Given the description of an element on the screen output the (x, y) to click on. 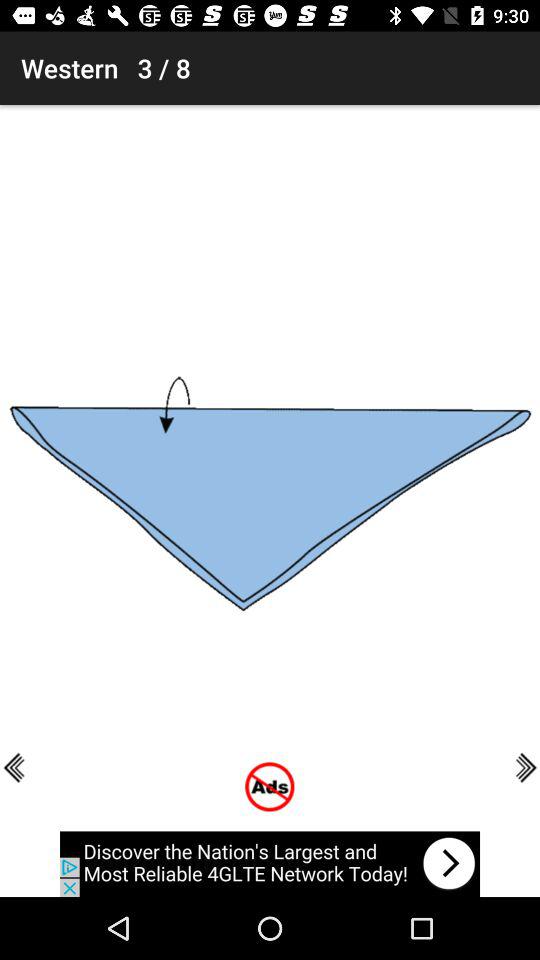
discover the nation 's largest and most reliable 4glte network today (270, 864)
